Given the description of an element on the screen output the (x, y) to click on. 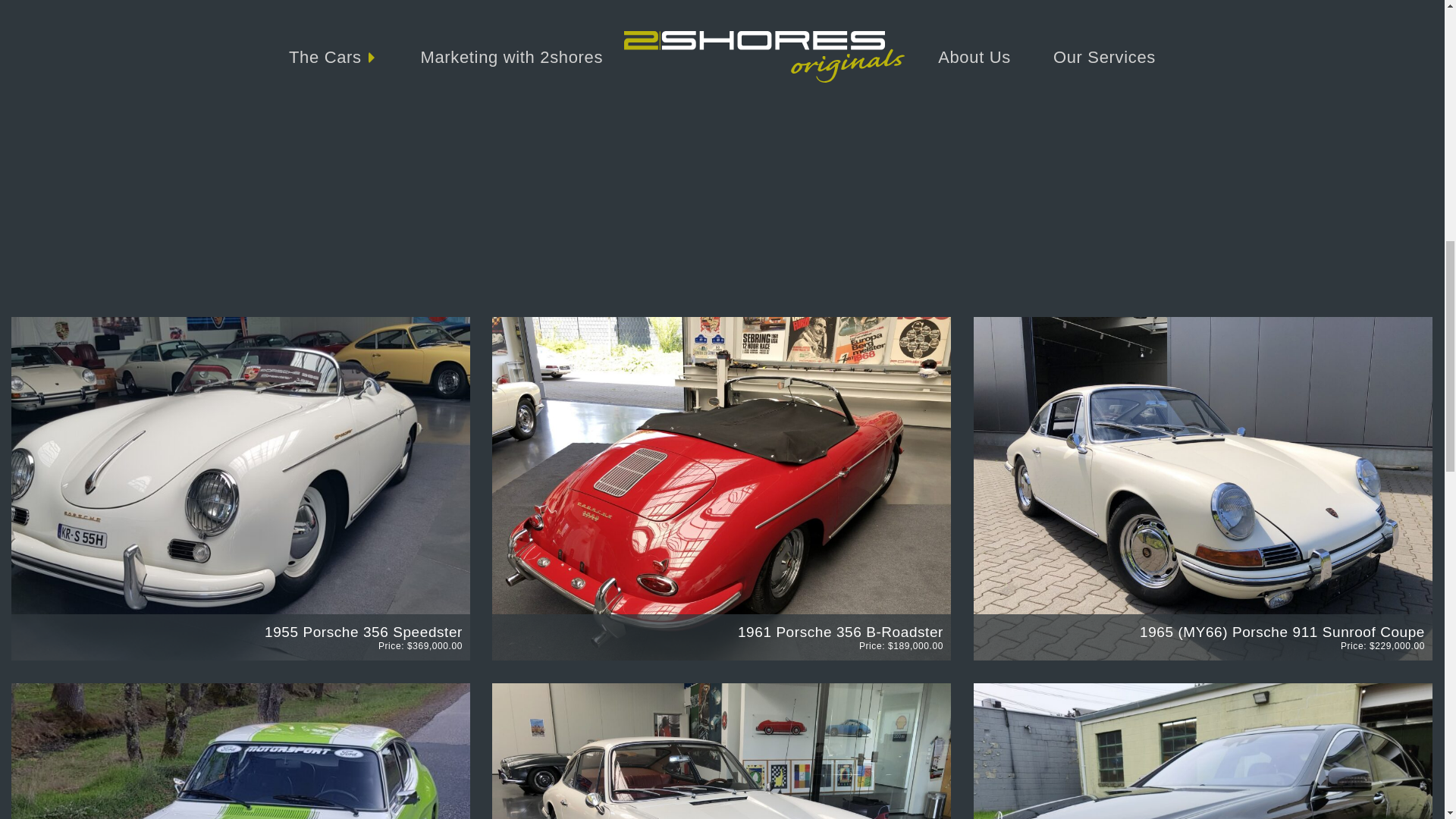
1955 Porsche 356 Speedster (363, 631)
1961 Porsche 356 B-Roadster (840, 631)
